Given the description of an element on the screen output the (x, y) to click on. 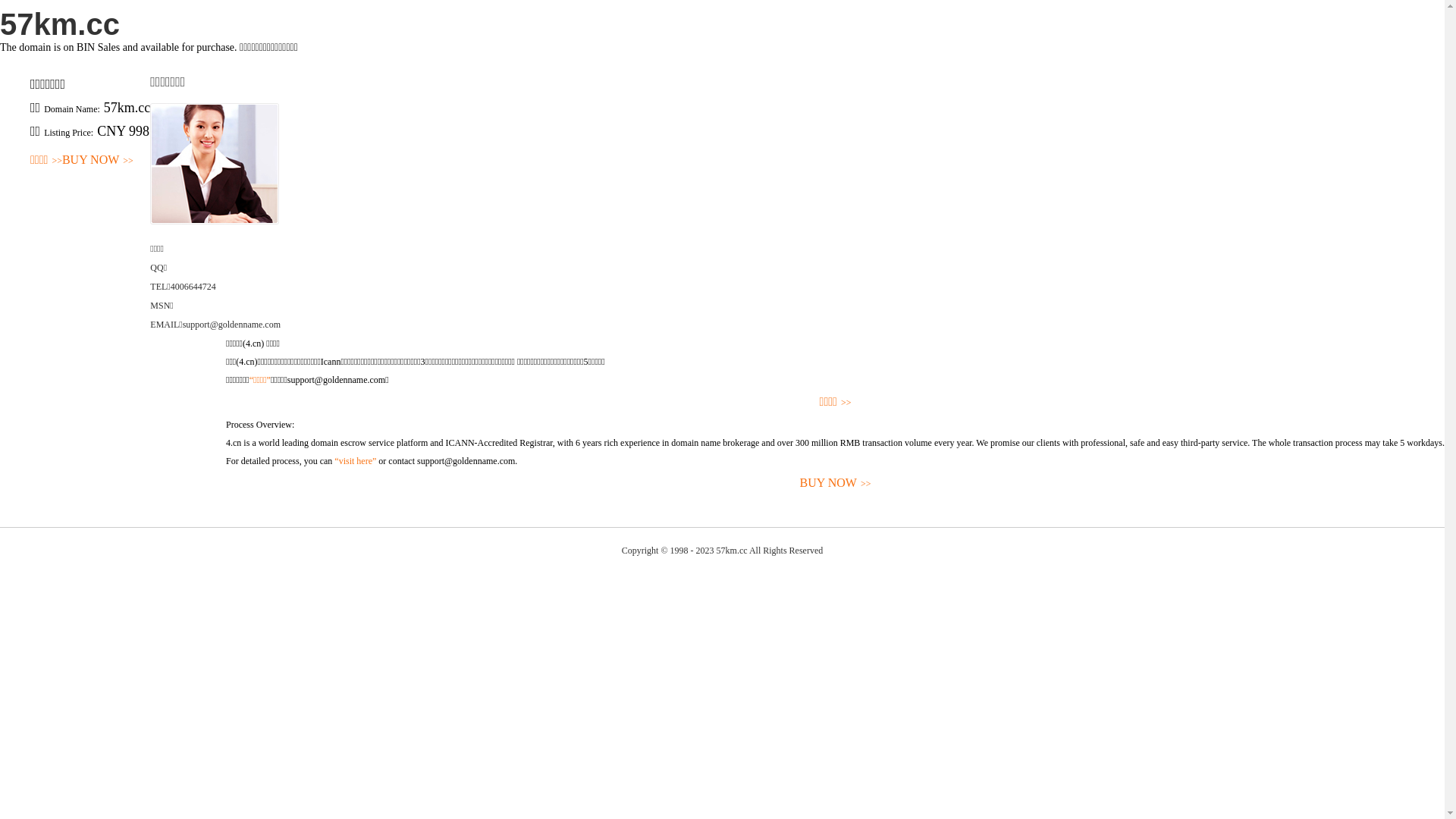
BUY NOW>> Element type: text (834, 483)
BUY NOW>> Element type: text (97, 160)
